Given the description of an element on the screen output the (x, y) to click on. 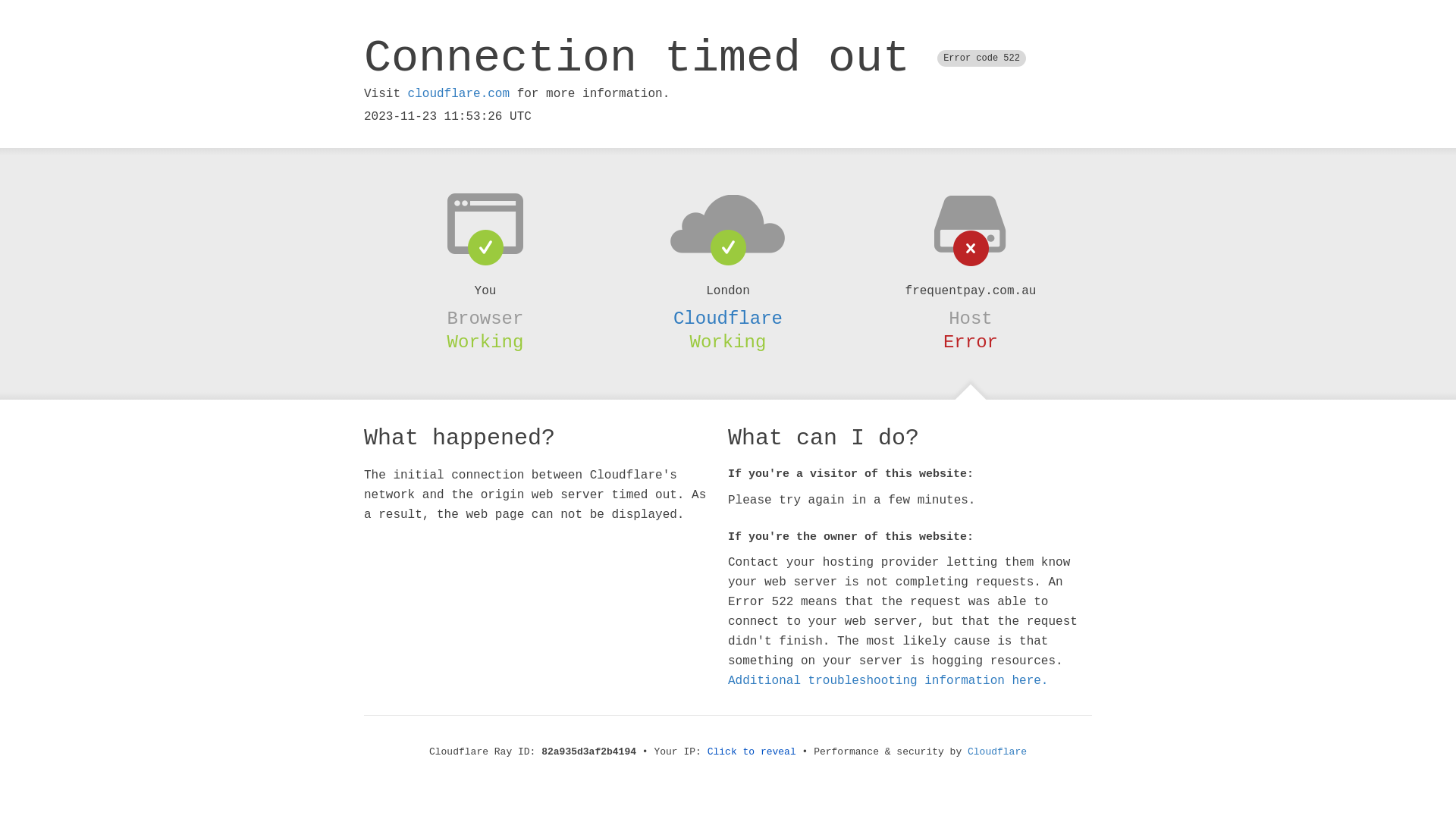
Click to reveal Element type: text (751, 751)
Cloudflare Element type: text (727, 318)
cloudflare.com Element type: text (458, 93)
Additional troubleshooting information here. Element type: text (888, 680)
Cloudflare Element type: text (996, 751)
